Given the description of an element on the screen output the (x, y) to click on. 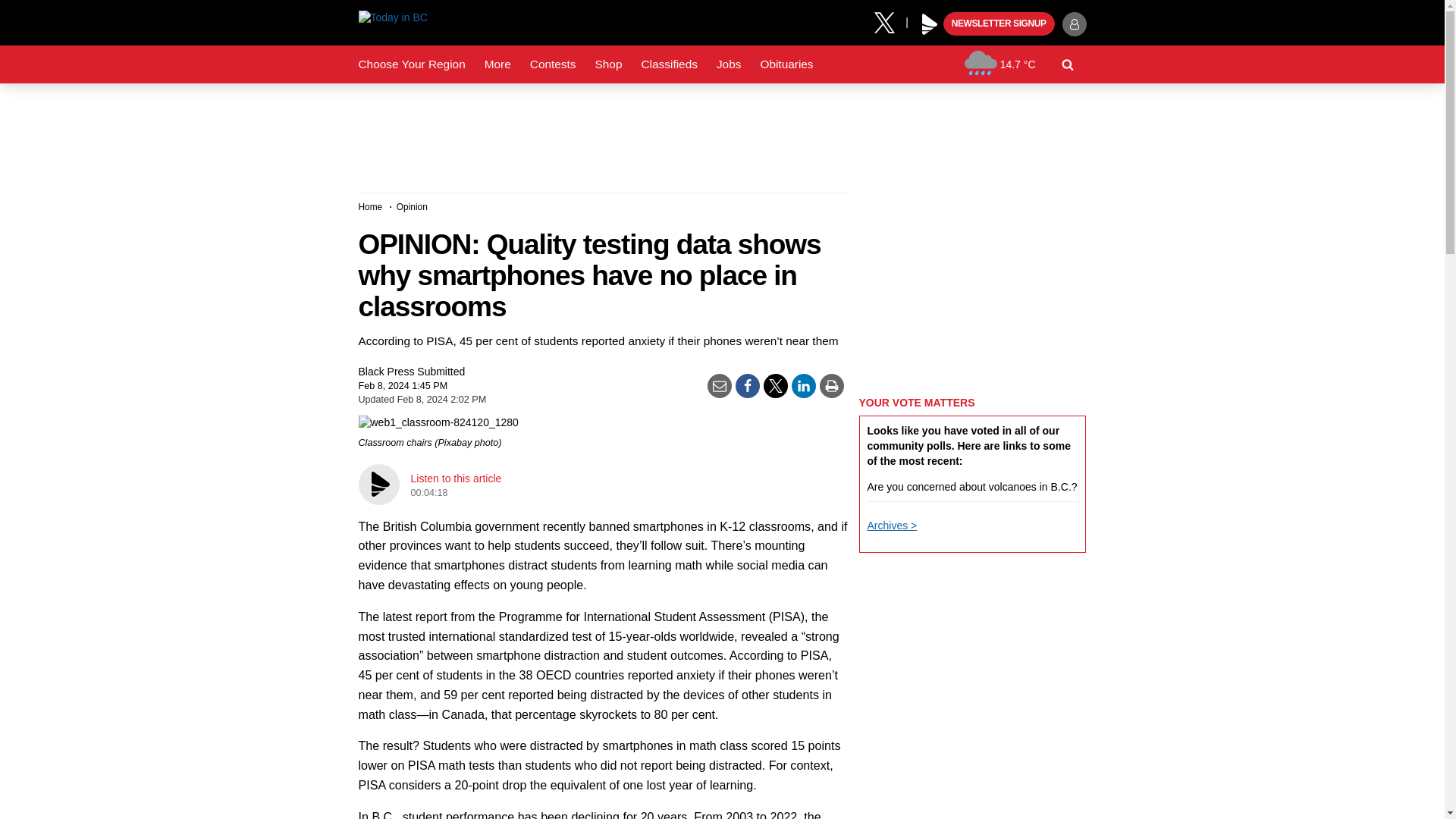
NEWSLETTER SIGNUP (998, 24)
X (889, 21)
Black Press Media (929, 24)
Contests (552, 64)
Play (929, 24)
